Given the description of an element on the screen output the (x, y) to click on. 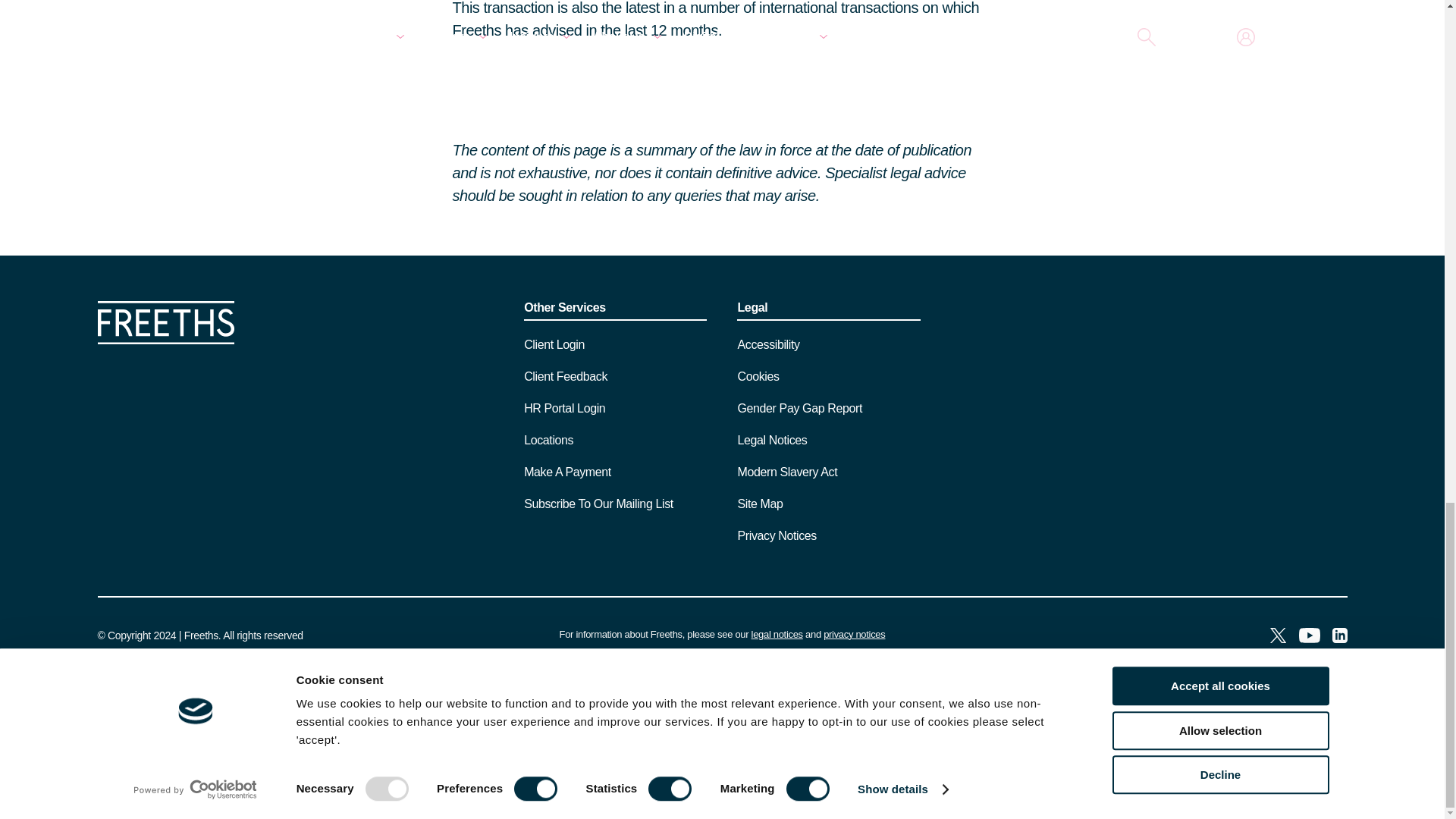
Twitter (1277, 636)
Legal Notices (777, 634)
YouTube (1308, 636)
Home (164, 339)
Privacy Notices (854, 634)
